Given the description of an element on the screen output the (x, y) to click on. 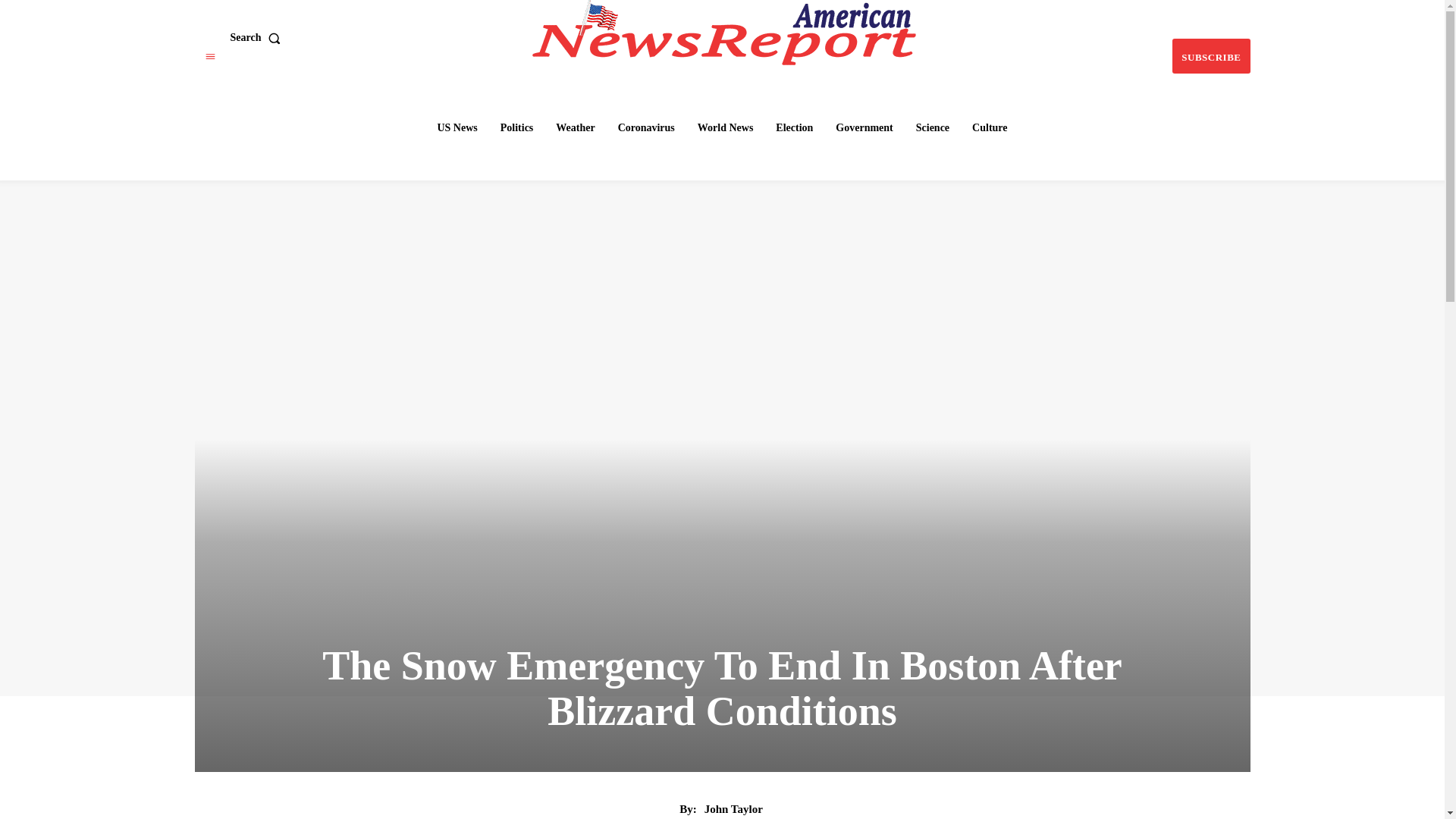
Culture (988, 128)
Weather (575, 128)
Subscribe (1210, 56)
Election (794, 128)
US News (456, 128)
Search (258, 38)
Government (863, 128)
World News (725, 128)
Coronavirus (646, 128)
Politics (517, 128)
Science (932, 128)
John Taylor (733, 808)
SUBSCRIBE (1210, 56)
